Given the description of an element on the screen output the (x, y) to click on. 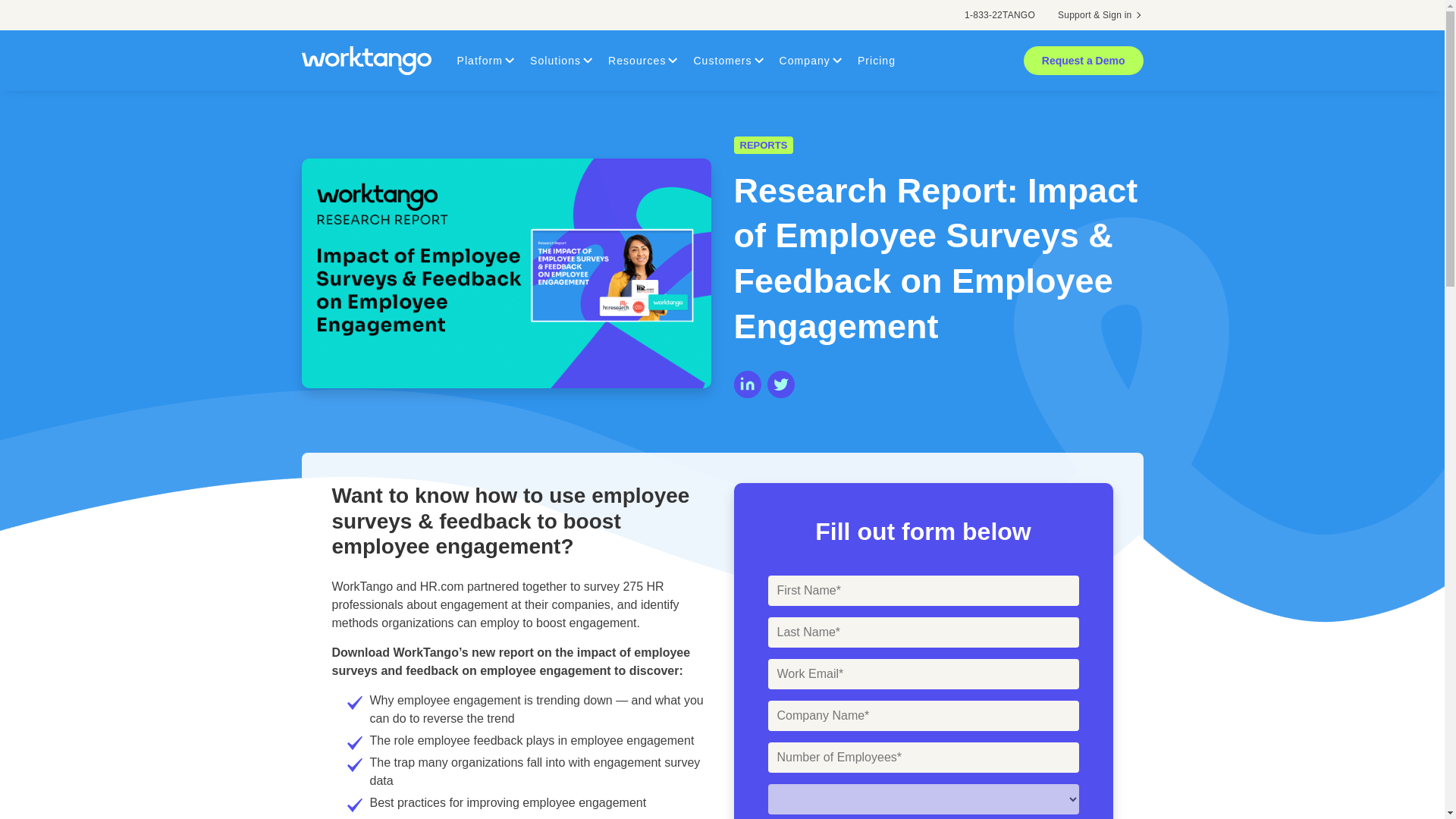
WorkTango (372, 60)
Solutions (554, 60)
Share on Twitter (780, 384)
Reports (763, 144)
Platform (479, 60)
Share on LinkedIn (747, 384)
1-833-22TANGO (999, 15)
